Given the description of an element on the screen output the (x, y) to click on. 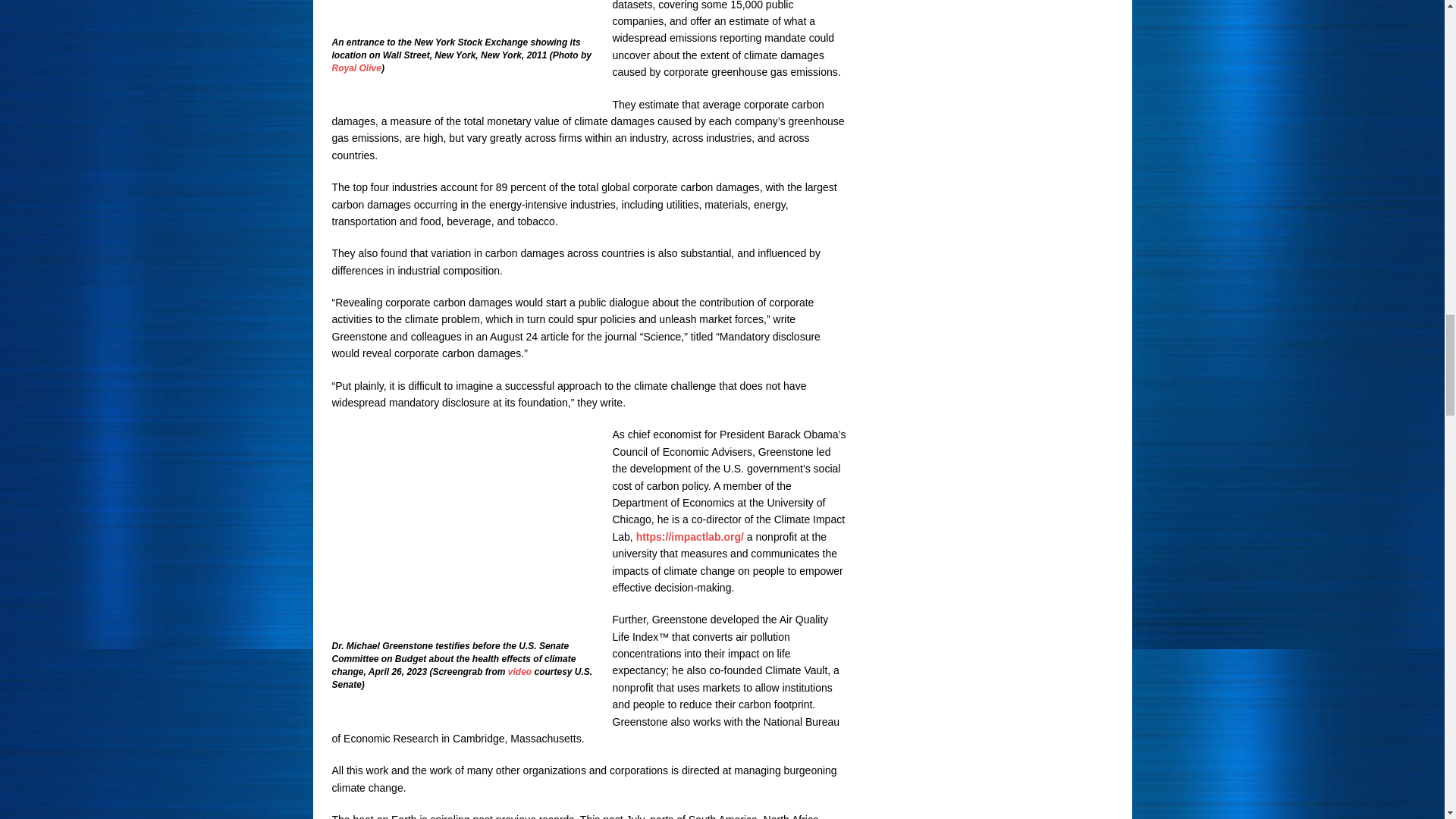
video (519, 671)
Royal Olive (356, 68)
